Given the description of an element on the screen output the (x, y) to click on. 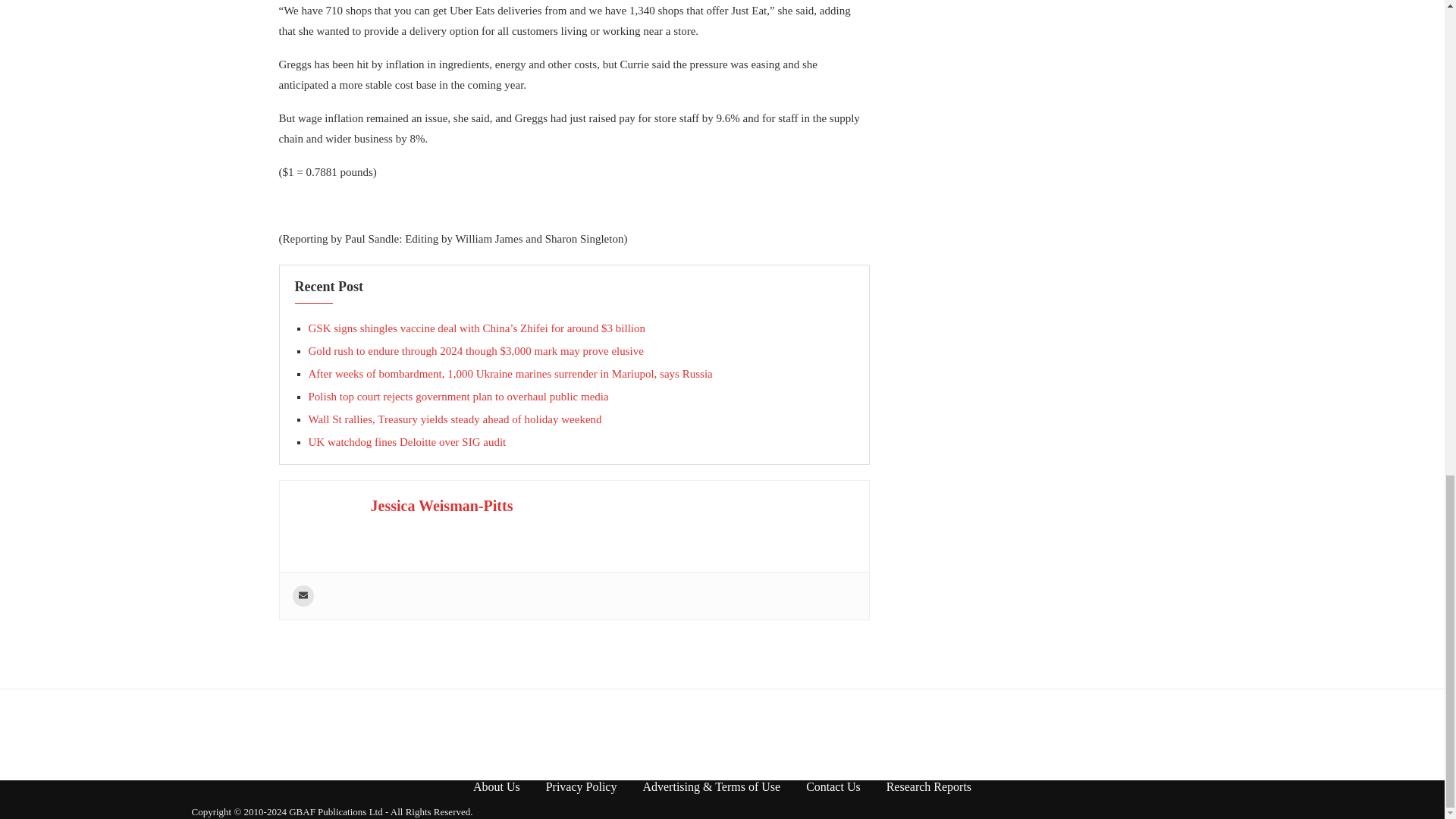
User email (303, 595)
